Given the description of an element on the screen output the (x, y) to click on. 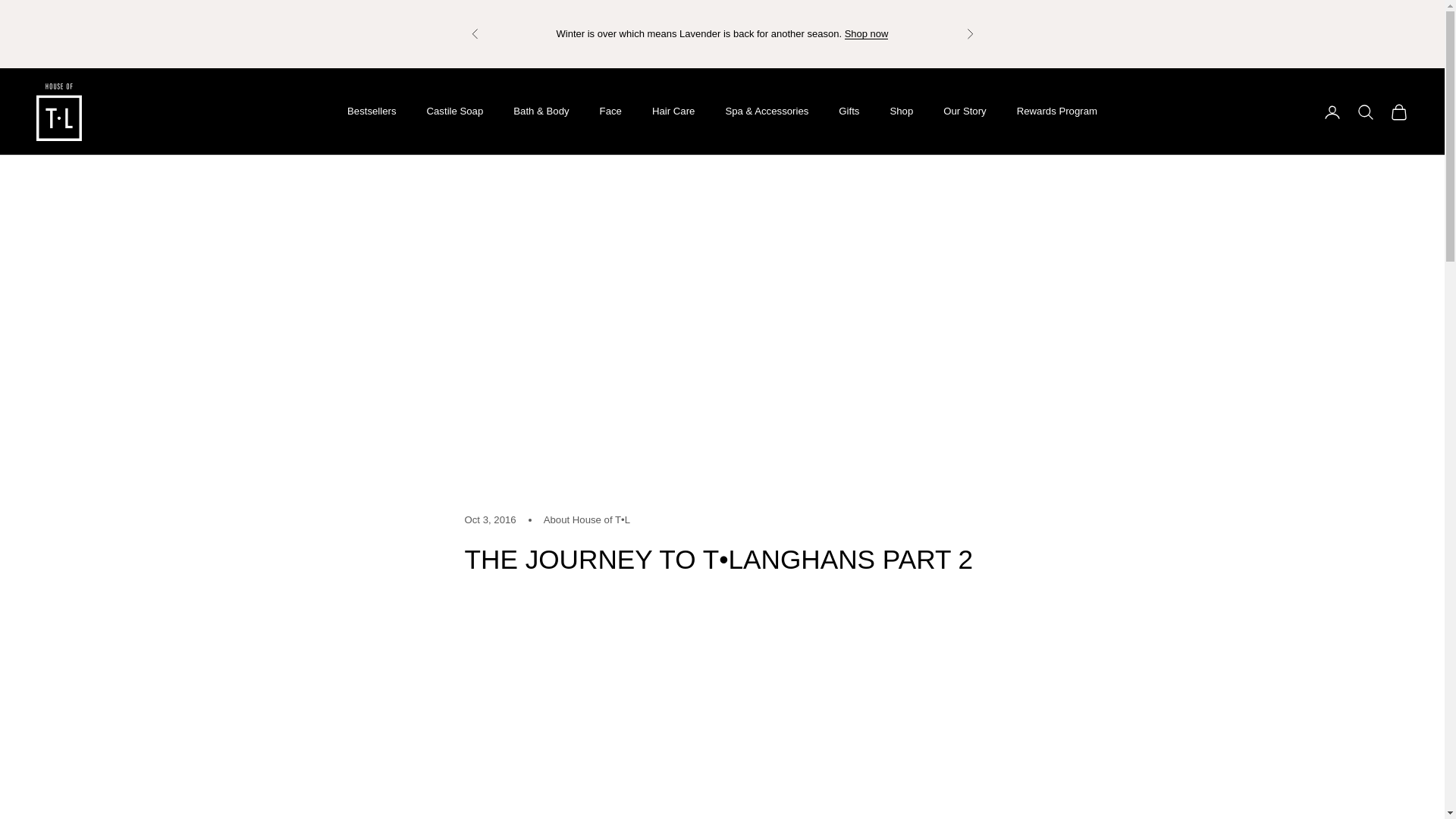
Lavender Collection (866, 33)
Rewards Program (1056, 111)
Our Story (964, 111)
Open account page (1331, 112)
Face (610, 111)
Open search (1365, 112)
Bestsellers (371, 111)
Shop now (866, 33)
Hair Care (673, 111)
Gifts (848, 111)
